Given the description of an element on the screen output the (x, y) to click on. 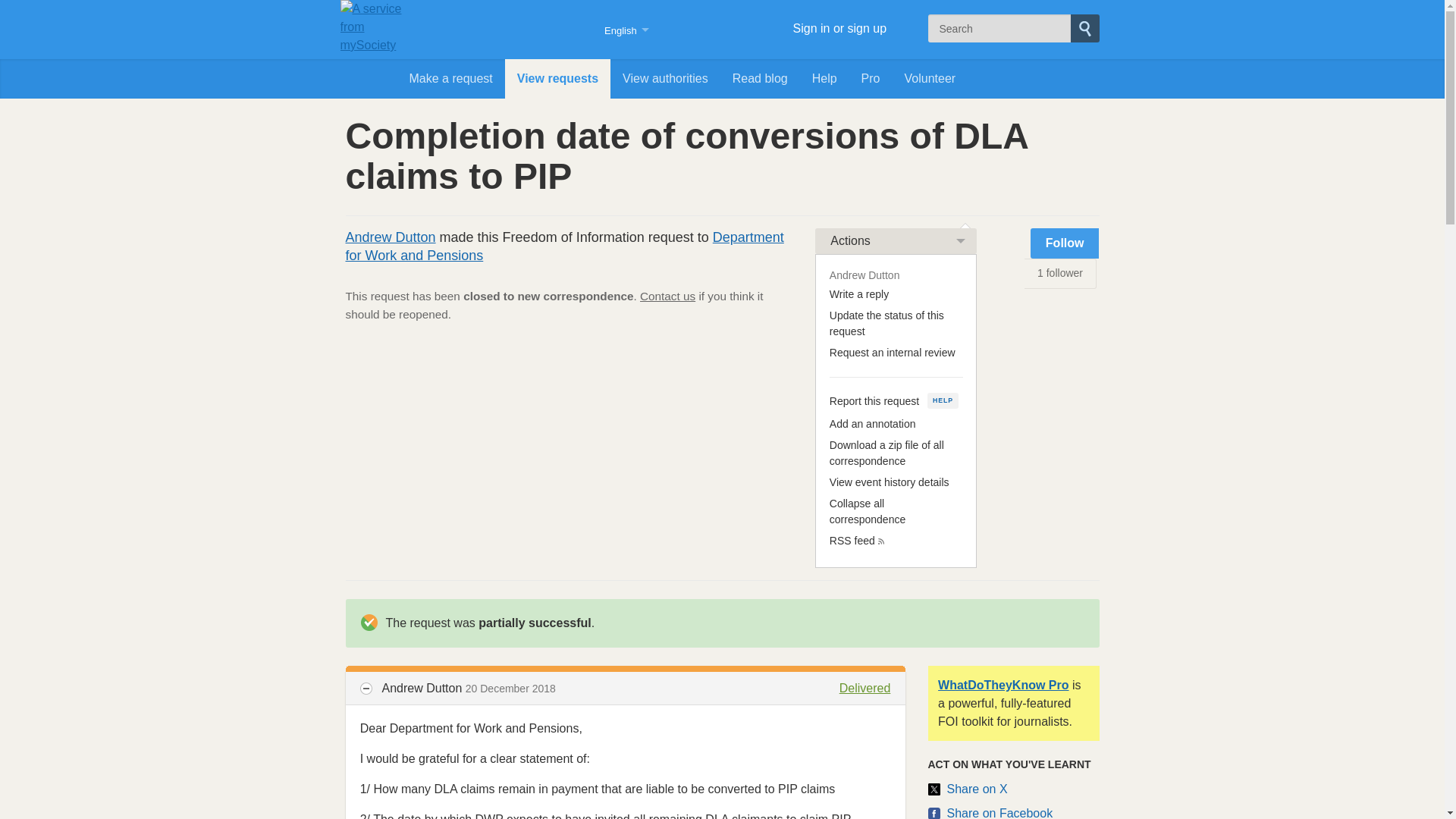
Read blog (759, 78)
Contact us (667, 295)
Write a reply (858, 294)
Andrew Dutton (390, 237)
Collapse all correspondence (867, 511)
Make a request (451, 78)
WhatDoTheyKnow (491, 29)
Sign in or sign up (812, 28)
Volunteer (930, 78)
Download a zip file of all correspondence (886, 452)
type your search term here (999, 28)
20 December 2018 (510, 688)
Pro (870, 78)
Actions (895, 240)
View authorities (665, 78)
